Given the description of an element on the screen output the (x, y) to click on. 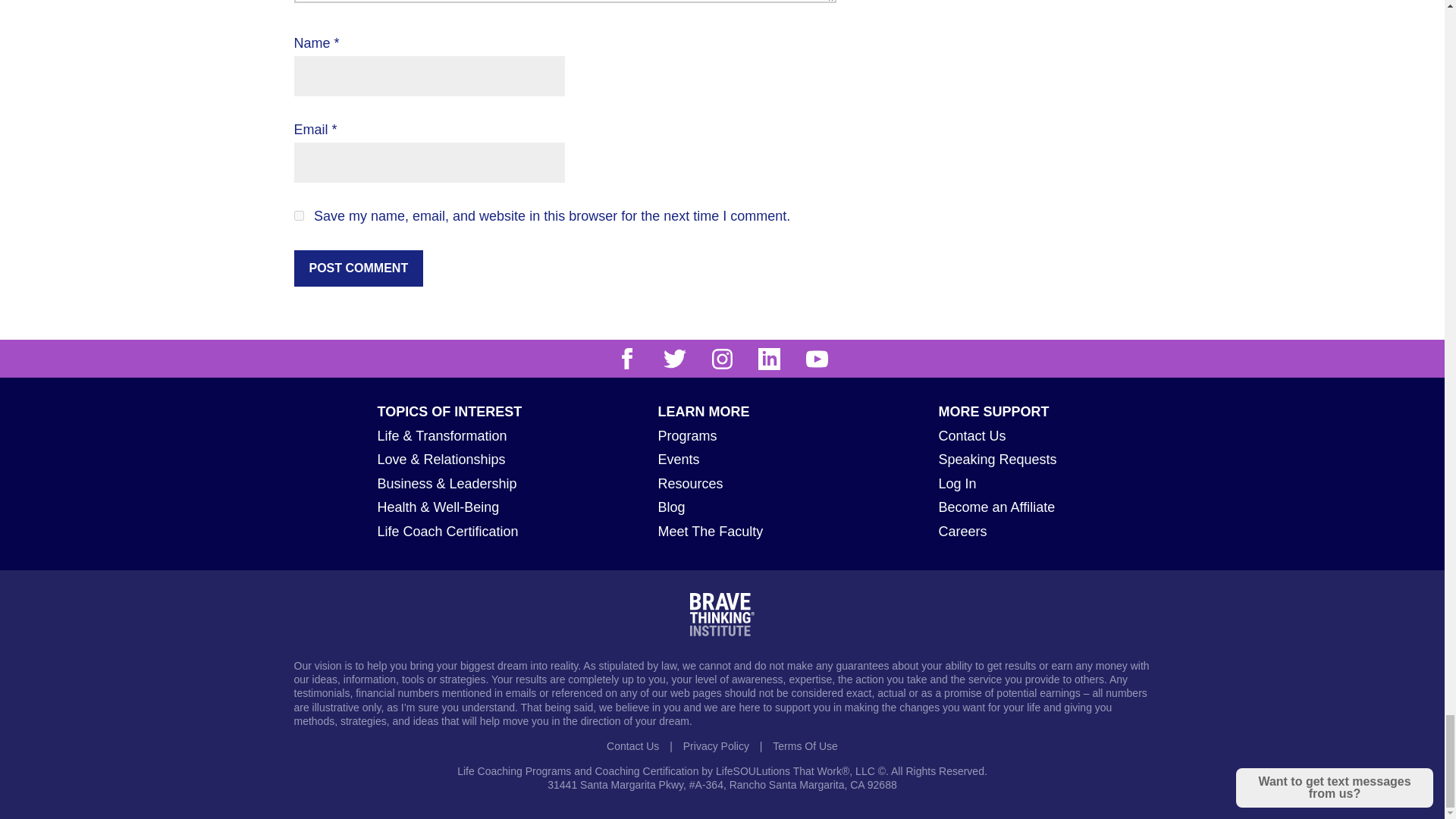
Find us on Twitter (674, 358)
Post Comment (358, 268)
Find us on LinkedIn (769, 359)
Find us on YouTube (817, 359)
yes (299, 215)
Find us on Instagram (721, 358)
Find us on Facebook (626, 358)
